Given the description of an element on the screen output the (x, y) to click on. 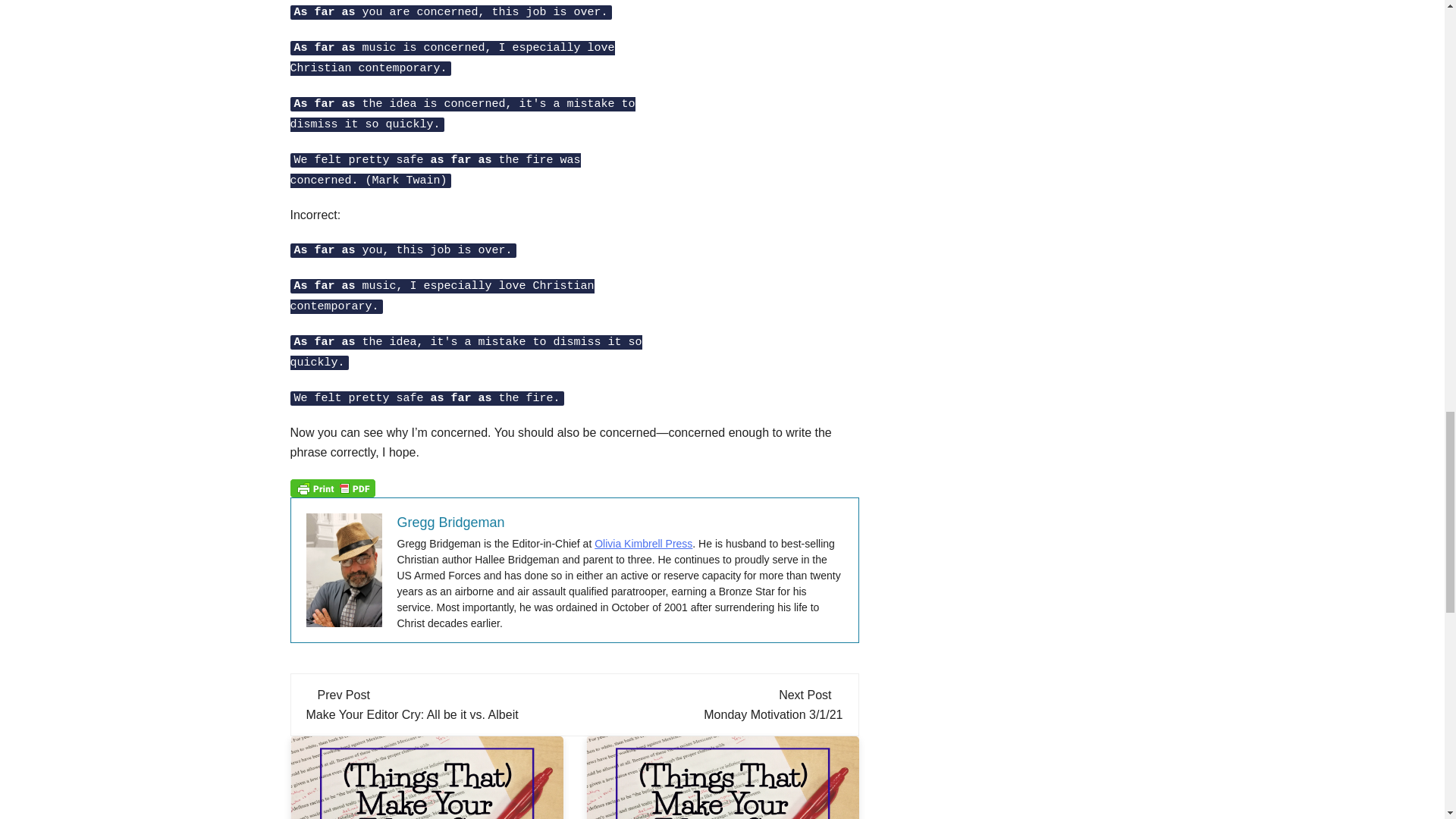
Make Your Editor Cry: All be it vs. Albeit (411, 714)
Olivia Kimbrell Press (643, 543)
Gregg Bridgeman (451, 522)
